Given the description of an element on the screen output the (x, y) to click on. 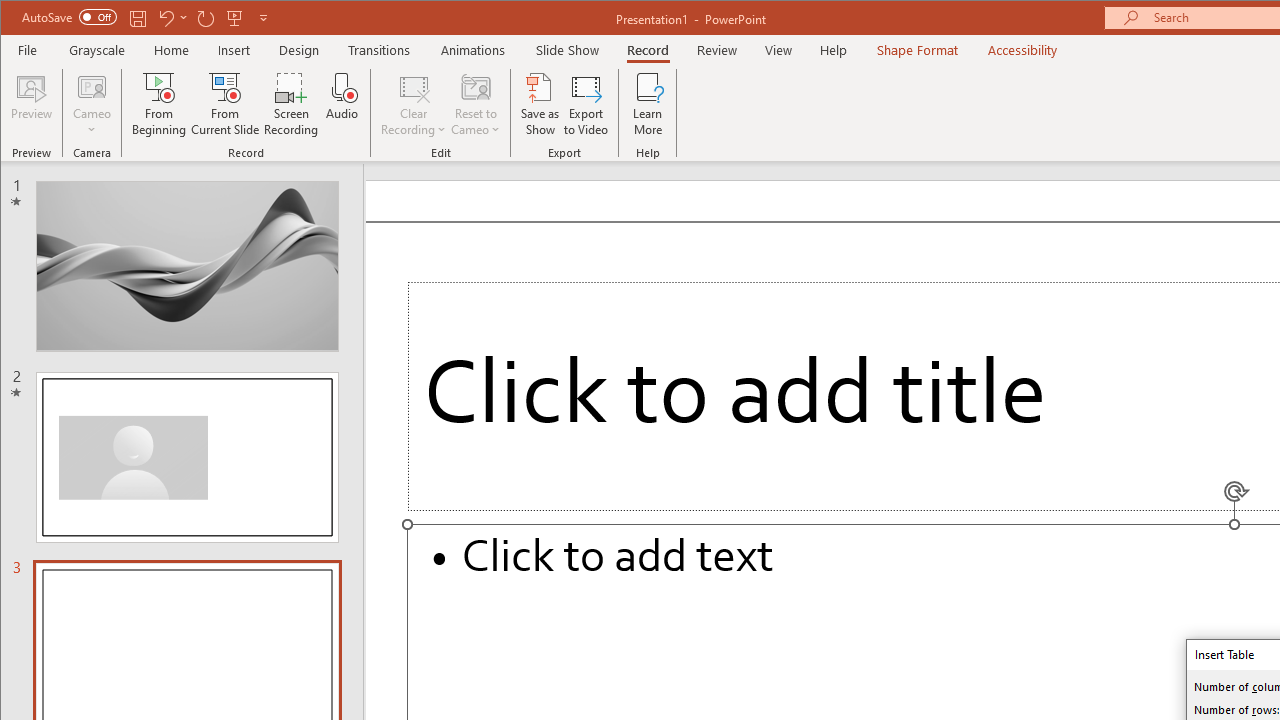
Screen Recording (291, 104)
From Beginning... (159, 104)
Audio (342, 104)
Save as Show (539, 104)
Shape Format (916, 50)
